Given the description of an element on the screen output the (x, y) to click on. 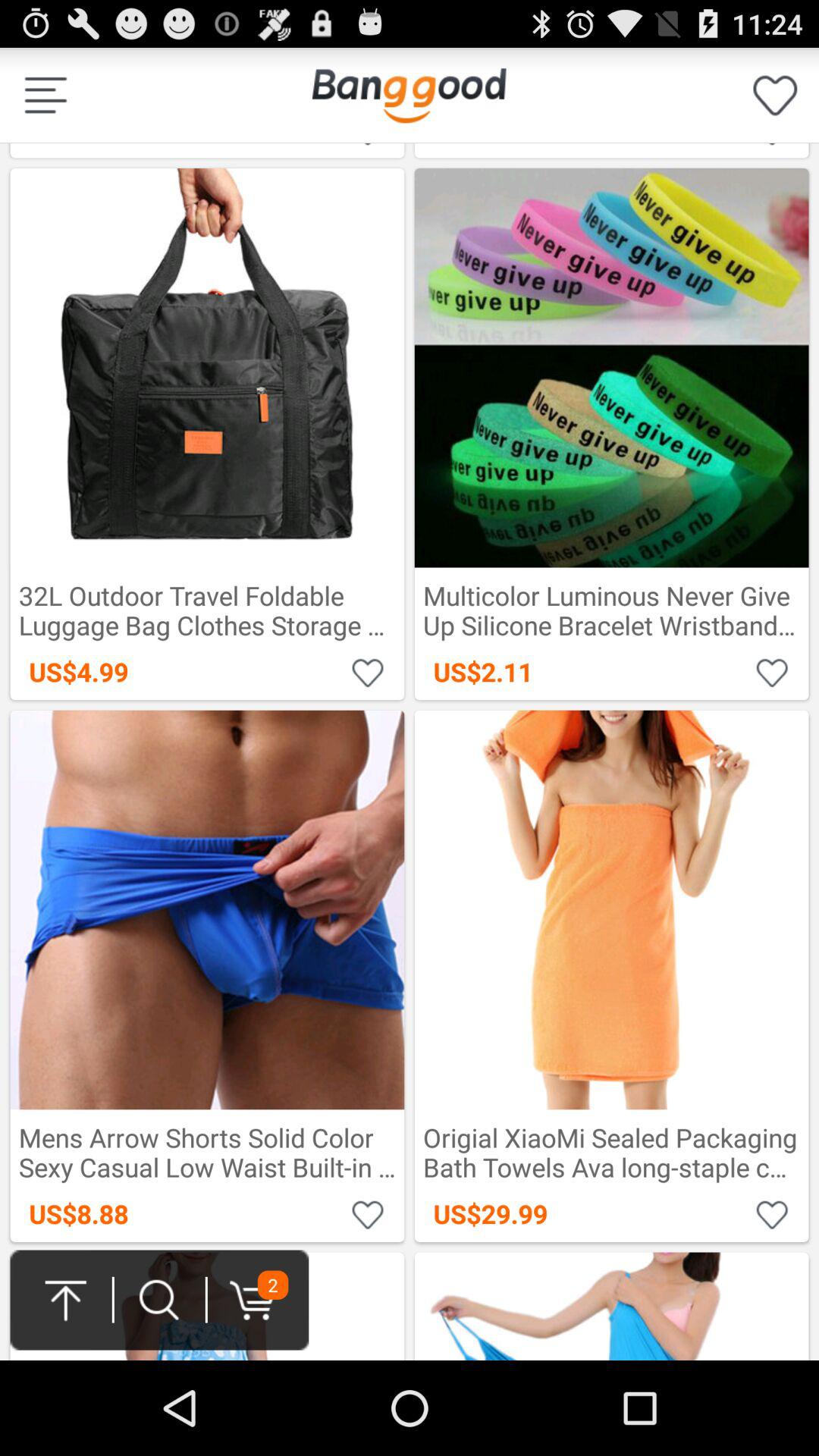
favorite (772, 1213)
